Given the description of an element on the screen output the (x, y) to click on. 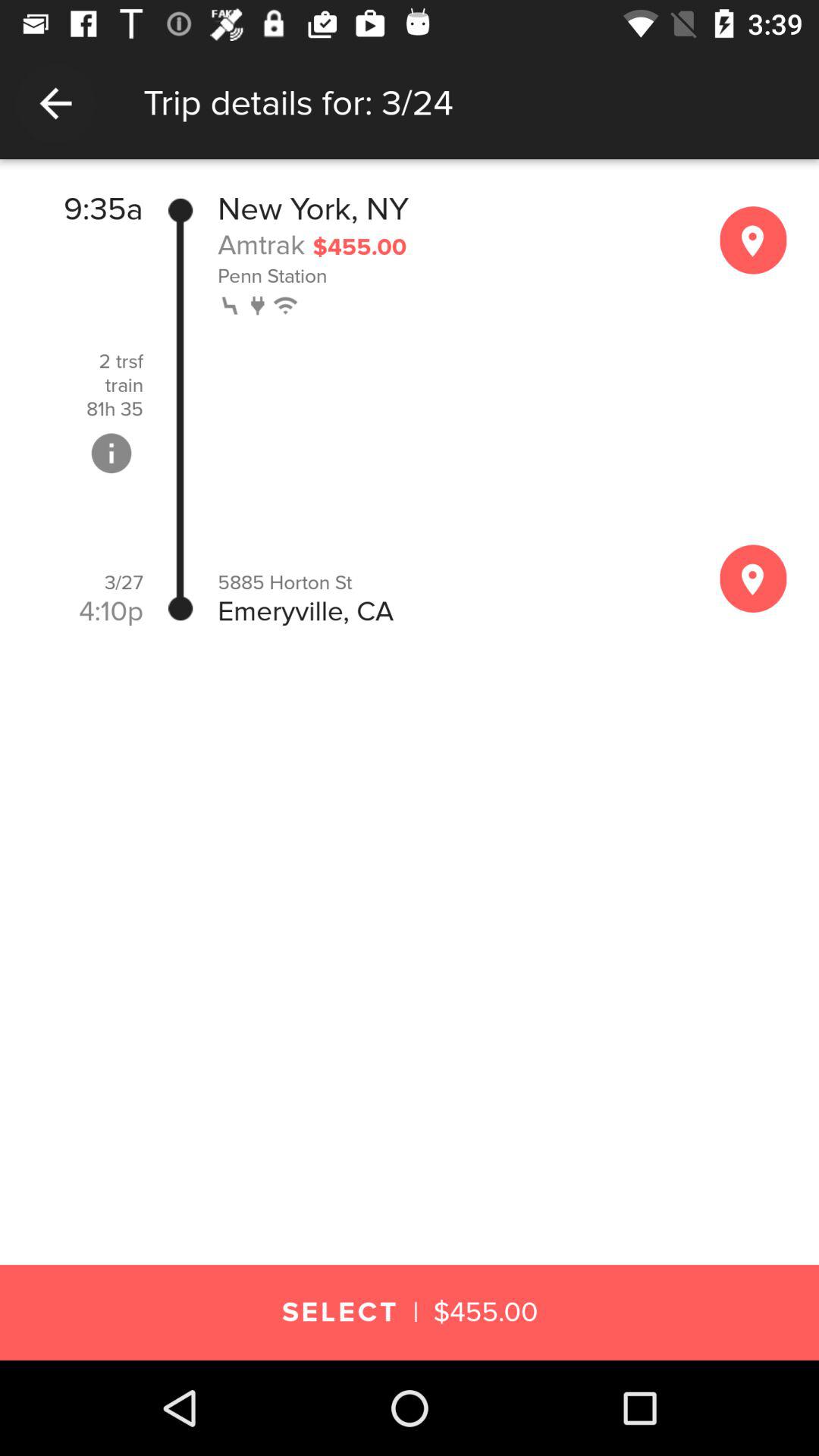
press the icon below new york, ny item (260, 244)
